Given the description of an element on the screen output the (x, y) to click on. 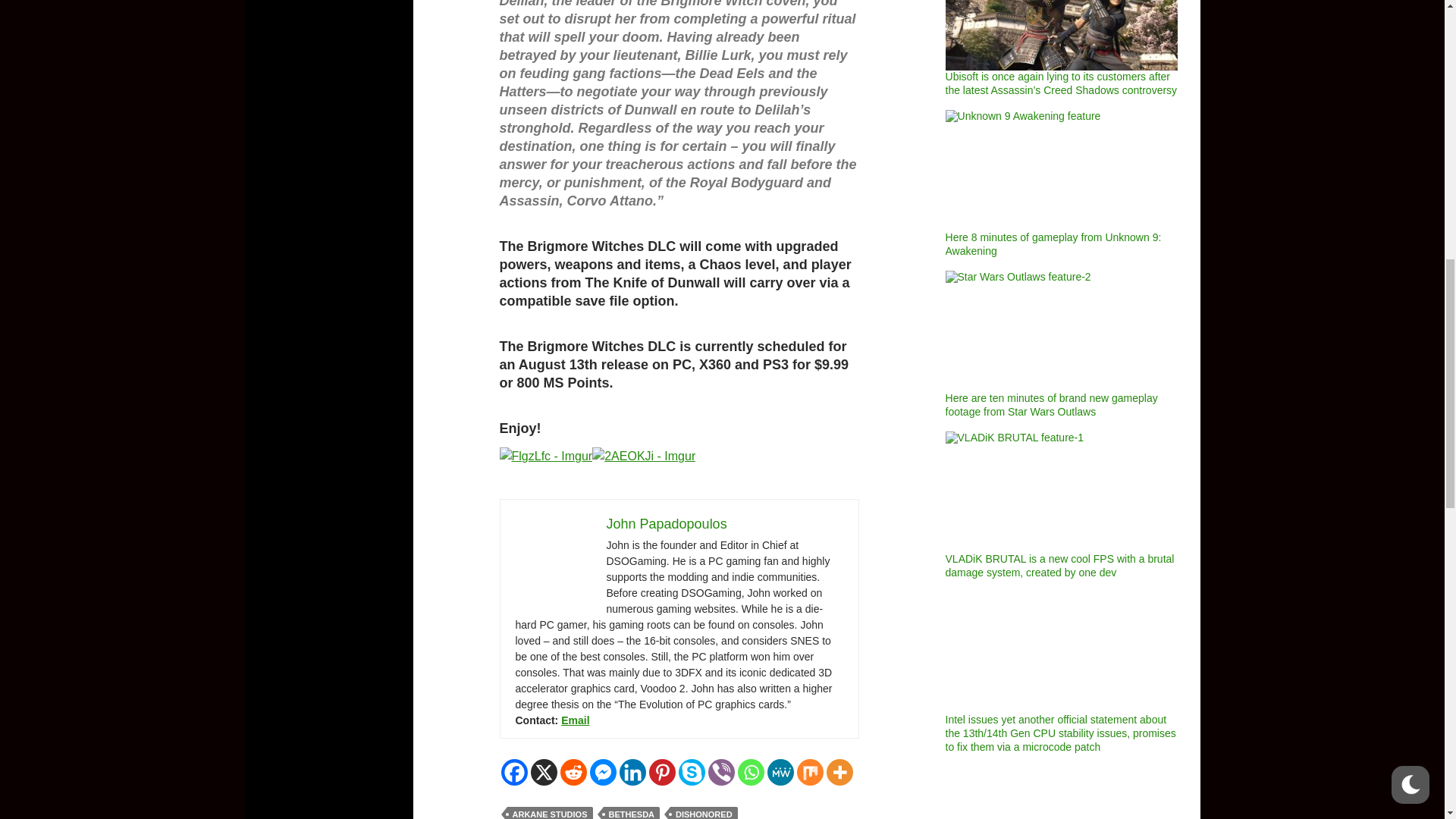
Facebook (513, 772)
John Papadopoulos (666, 523)
X (544, 772)
Email (574, 720)
